Given the description of an element on the screen output the (x, y) to click on. 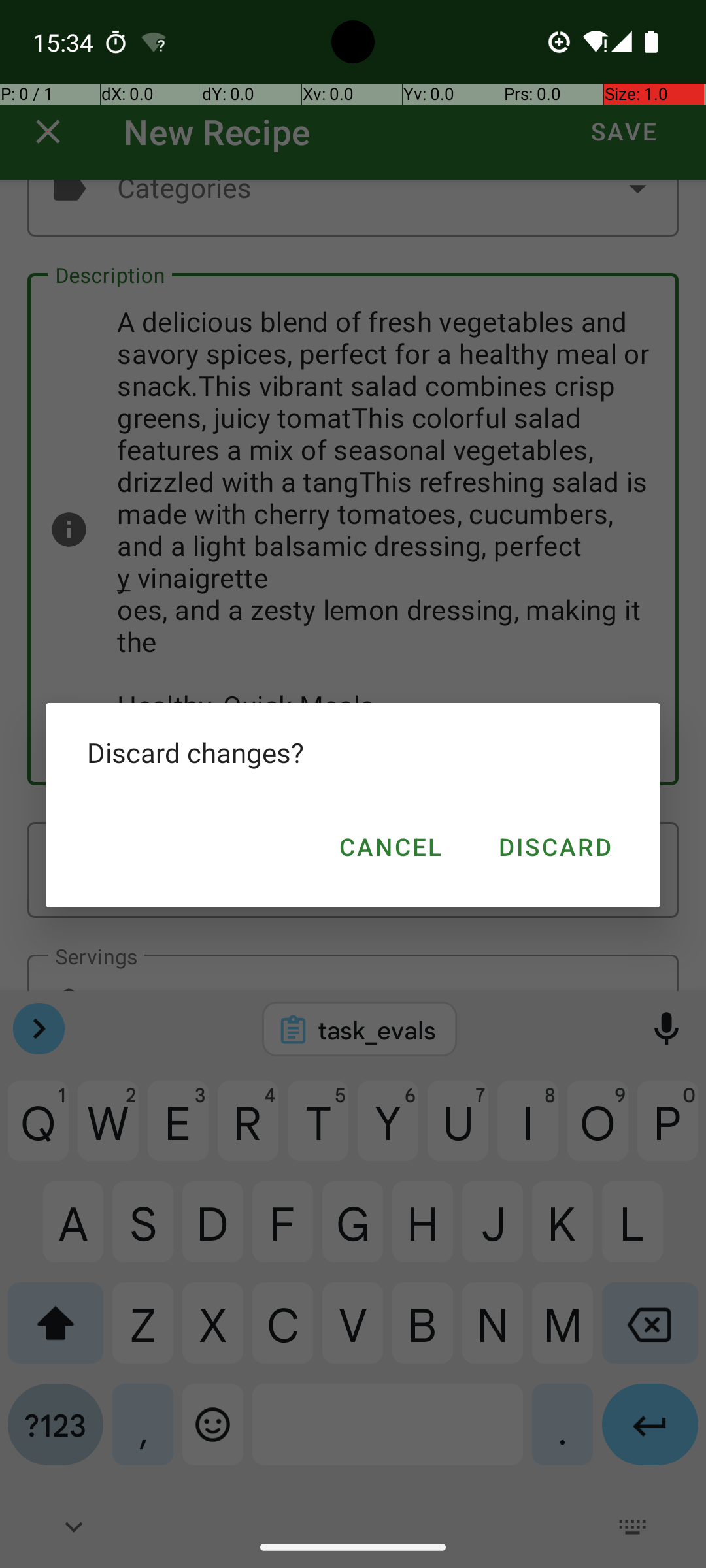
Discard changes? Element type: android.widget.TextView (352, 751)
DISCARD Element type: android.widget.Button (554, 846)
